Given the description of an element on the screen output the (x, y) to click on. 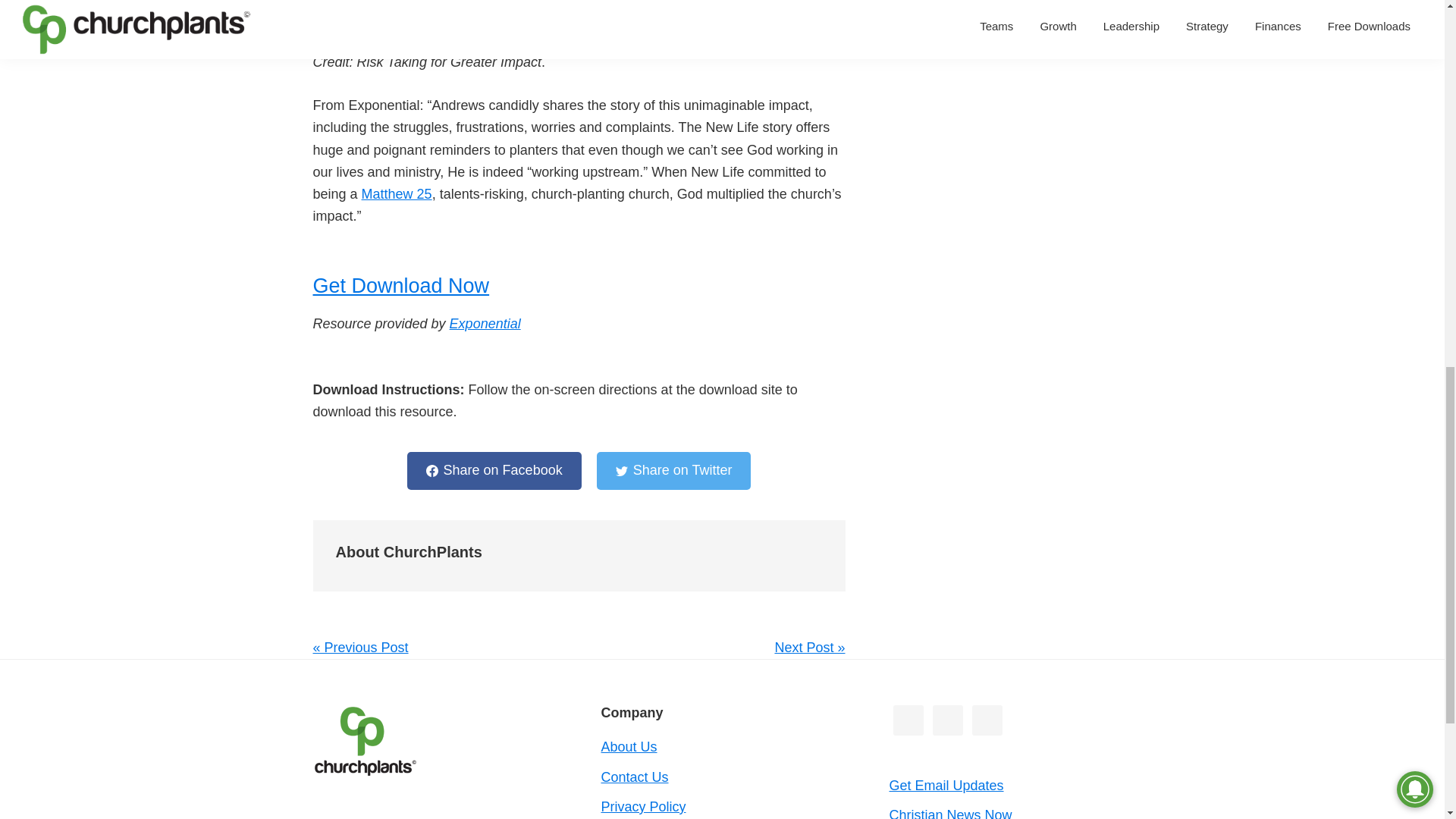
Privacy Policy (642, 806)
Get Download Now (401, 297)
Share on Twitter (673, 470)
Contact Us (633, 776)
Christian News Now (949, 813)
Exponential (485, 323)
Share on Facebook (493, 470)
About Us (627, 746)
Share This on Facebook (493, 470)
Matthew 25 (396, 193)
Get Email Updates (945, 785)
